Given the description of an element on the screen output the (x, y) to click on. 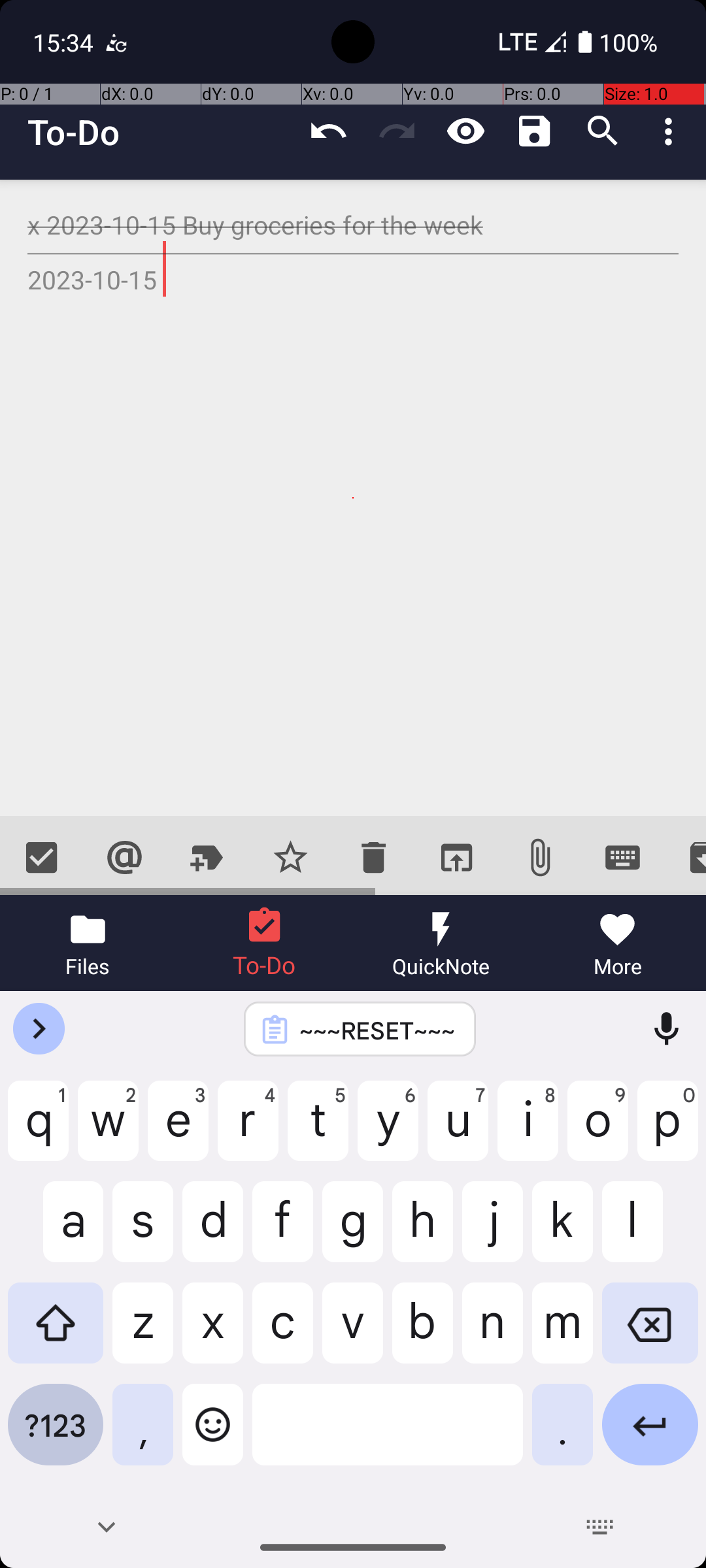
x 2023-10-15 Buy groceries for the week
2023-10-15  Element type: android.widget.EditText (353, 497)
